Given the description of an element on the screen output the (x, y) to click on. 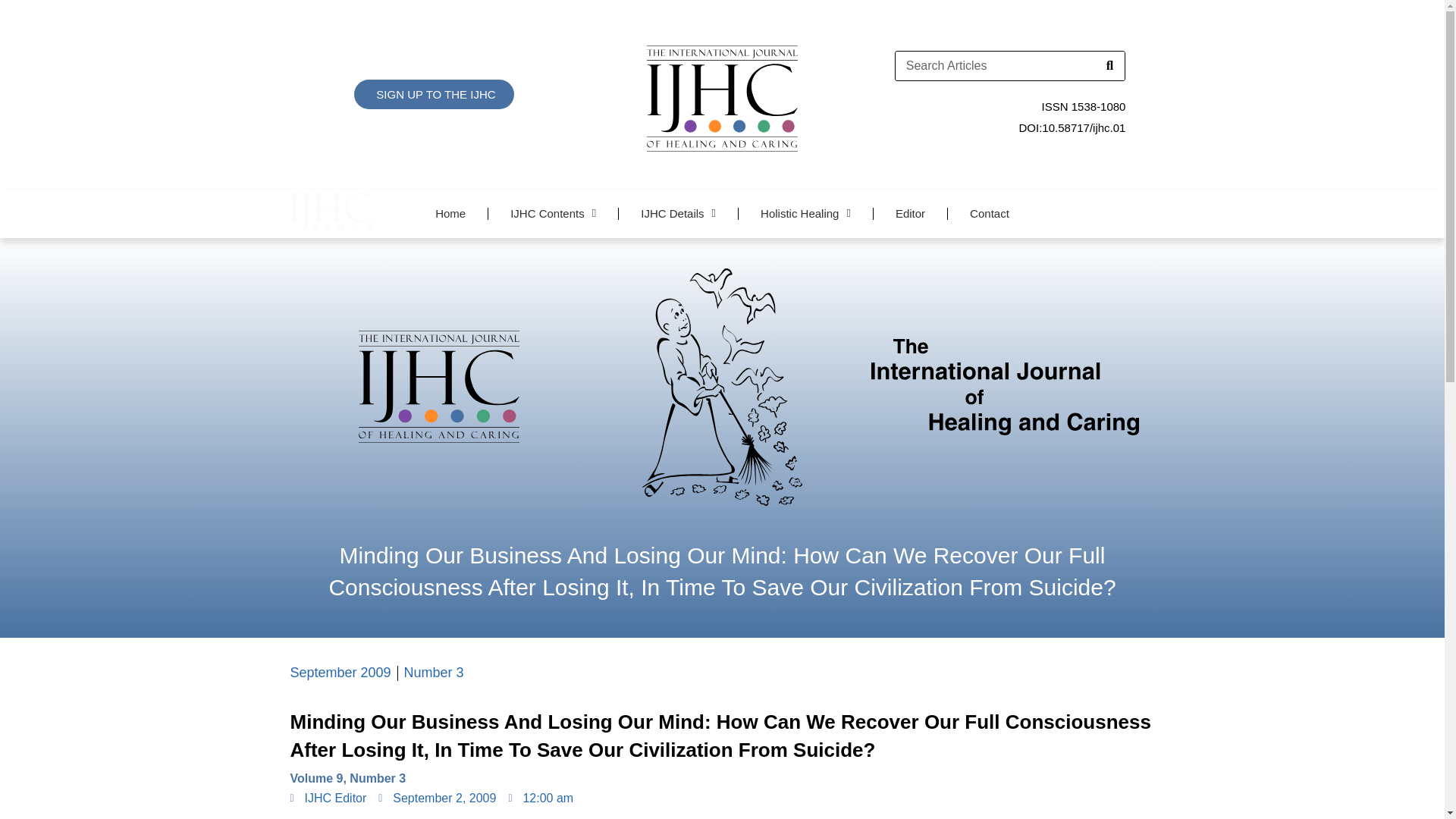
Search (1109, 65)
IJHC Logo (721, 98)
IJHC Details (678, 214)
SIGN UP TO THE IJHC (433, 93)
Editor (910, 214)
Home (450, 214)
IJHC Contents (552, 214)
Contact (989, 214)
Holistic Healing (805, 214)
